Given the description of an element on the screen output the (x, y) to click on. 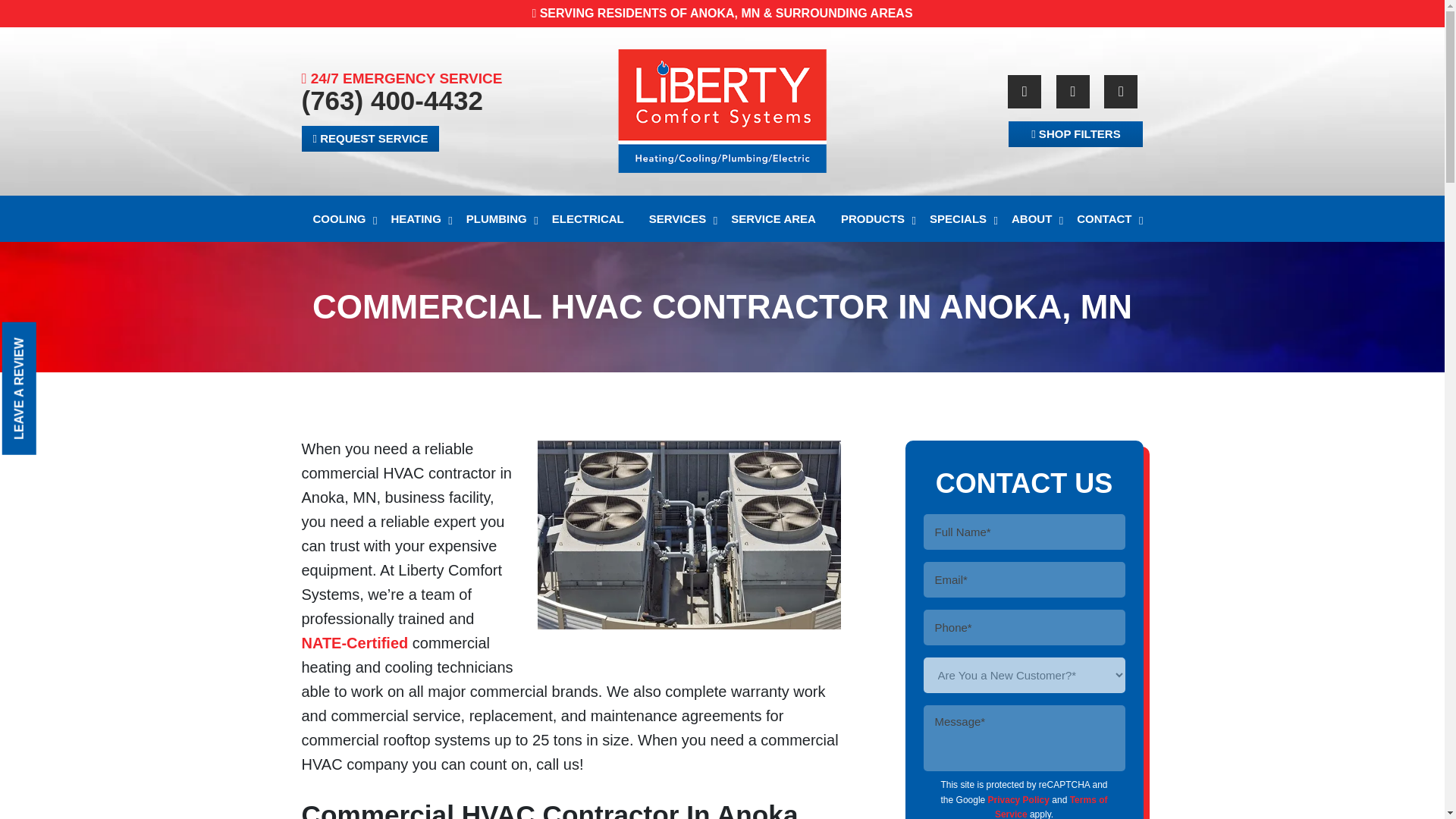
SERVICE AREA (773, 218)
Liberty Comfort Systems (722, 109)
SHOP FILTERS (1075, 134)
ELECTRICAL (587, 218)
HEATING (414, 218)
SERVICES (677, 218)
PRODUCTS (872, 218)
REQUEST SERVICE (370, 138)
COOLING (339, 218)
PLUMBING (496, 218)
